Given the description of an element on the screen output the (x, y) to click on. 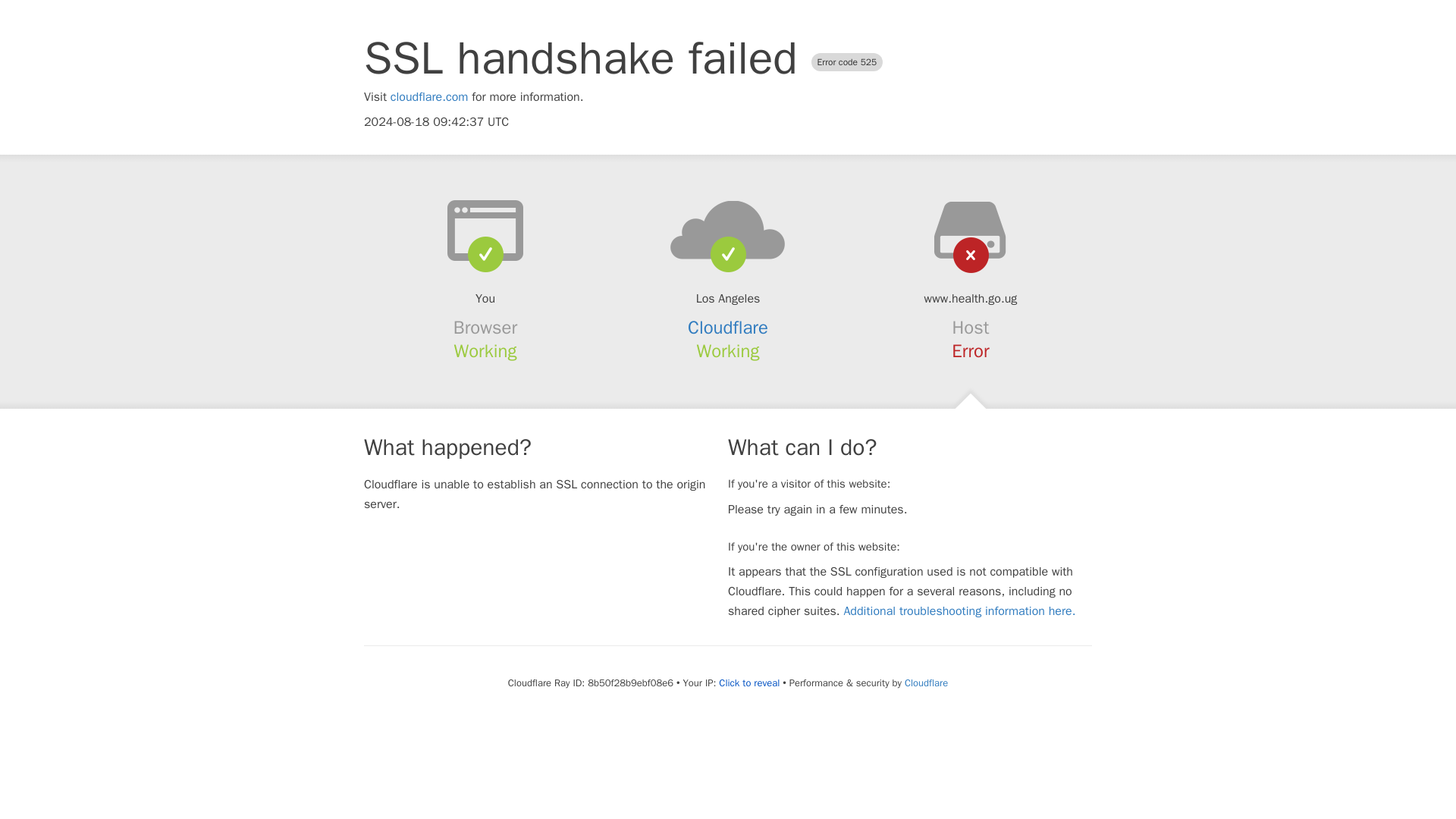
Cloudflare (727, 327)
Additional troubleshooting information here. (959, 611)
Cloudflare (925, 682)
Click to reveal (748, 683)
cloudflare.com (429, 96)
